Given the description of an element on the screen output the (x, y) to click on. 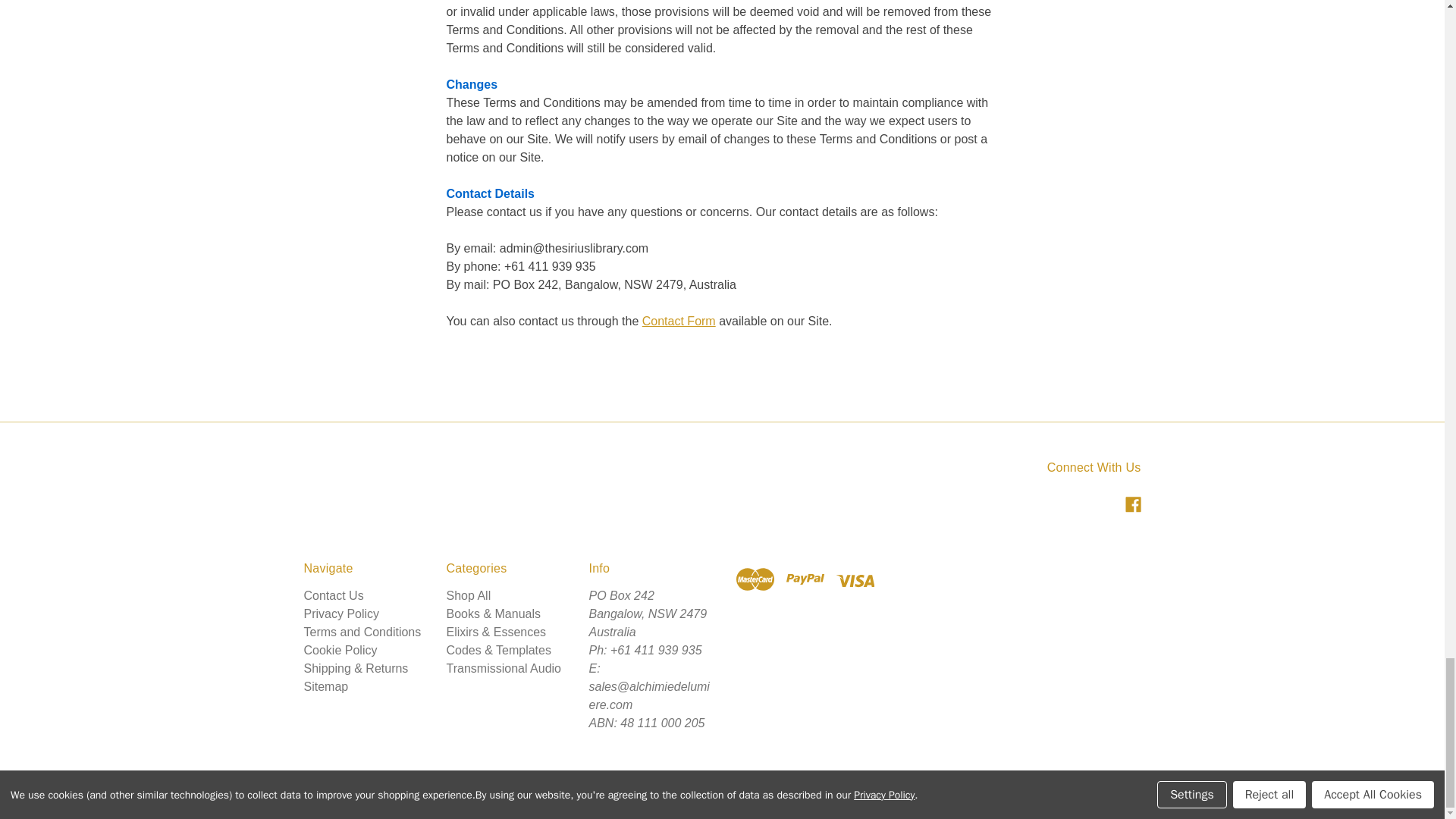
Facebook (1133, 504)
Sitemap (324, 686)
Shop All (467, 594)
Contact Us (332, 594)
Privacy Policy (340, 613)
Transmissional Audio (502, 667)
Cookie Policy (339, 649)
Contact Form (679, 320)
Terms and Conditions (361, 631)
